Given the description of an element on the screen output the (x, y) to click on. 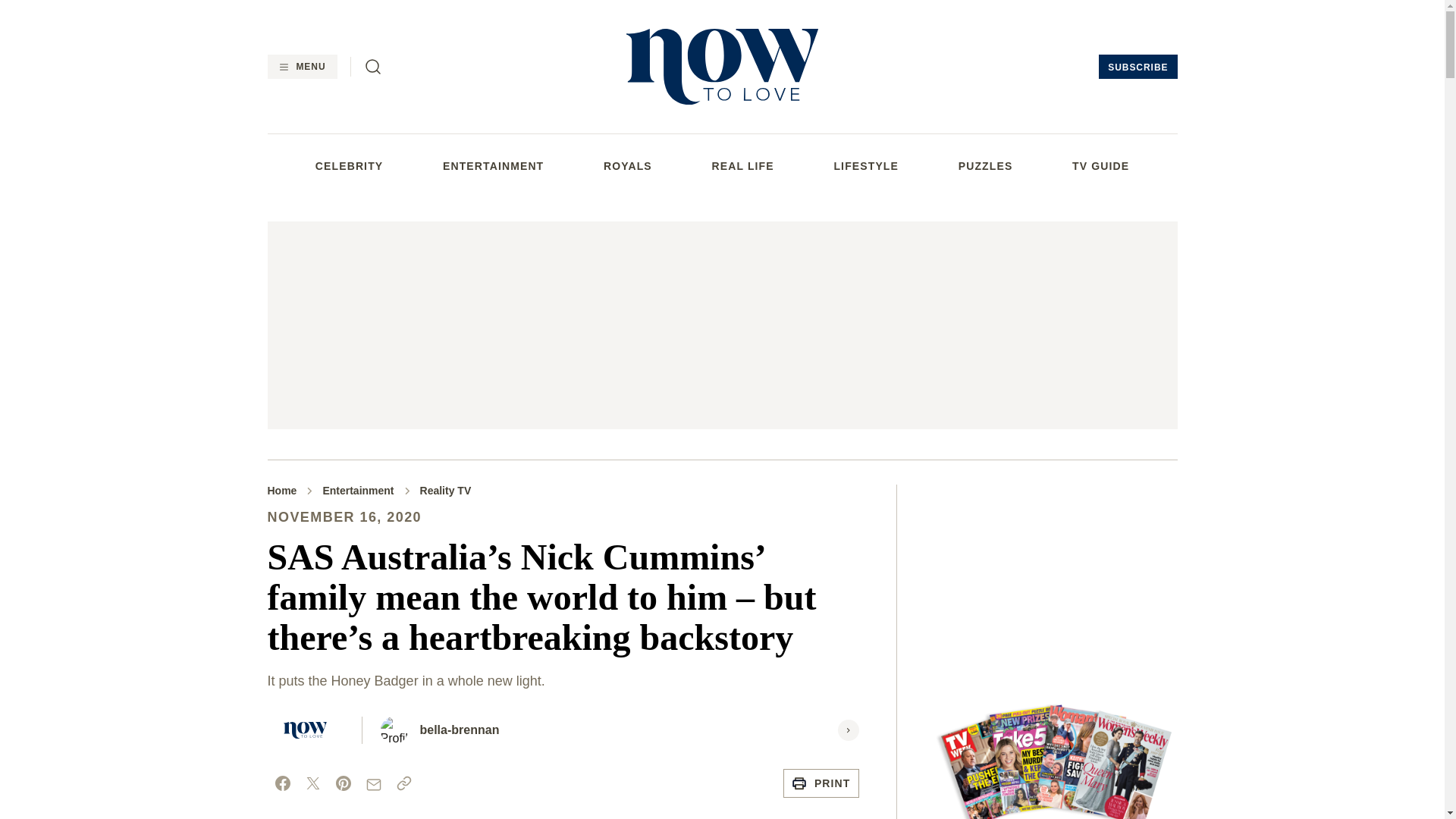
ROYALS (628, 165)
SUBSCRIBE (1137, 66)
LIFESTYLE (865, 165)
PUZZLES (985, 165)
ENTERTAINMENT (492, 165)
MENU (301, 66)
REAL LIFE (742, 165)
TV GUIDE (1100, 165)
CELEBRITY (348, 165)
